Given the description of an element on the screen output the (x, y) to click on. 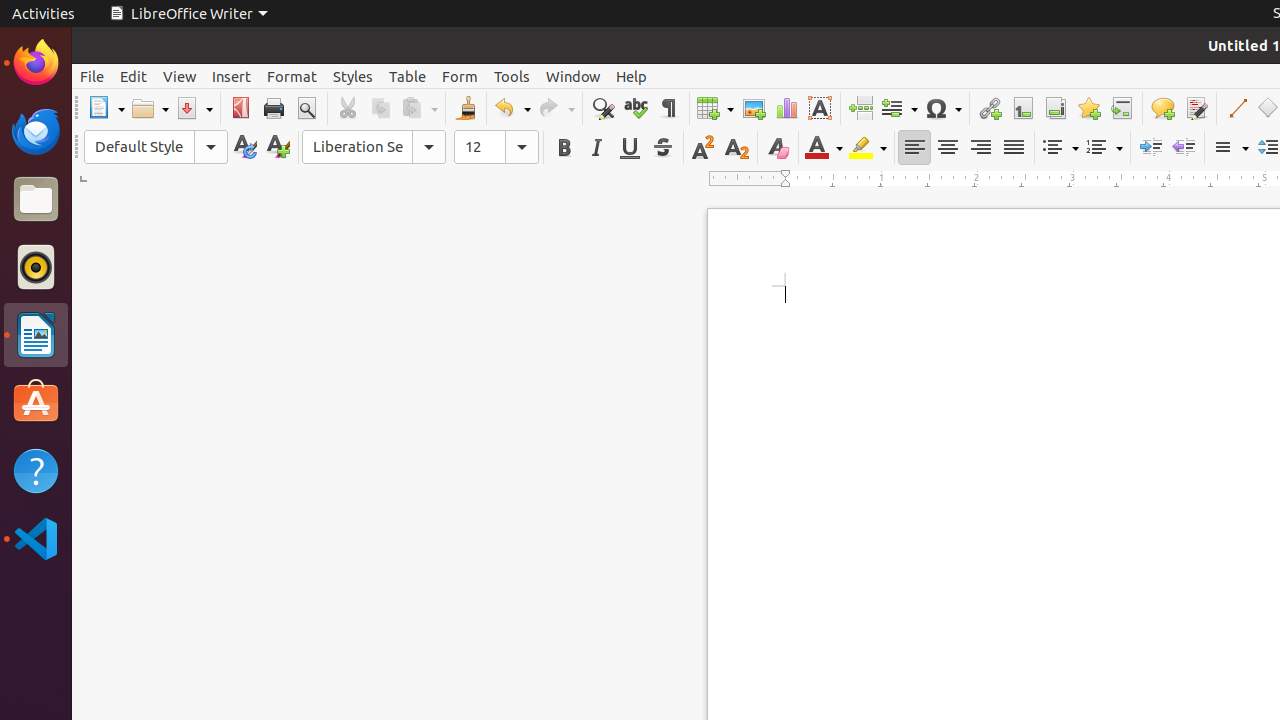
Print Element type: push-button (273, 108)
Italic Element type: toggle-button (596, 147)
Footnote Element type: push-button (1022, 108)
Text Box Element type: push-button (819, 108)
Styles Element type: menu (353, 76)
